Given the description of an element on the screen output the (x, y) to click on. 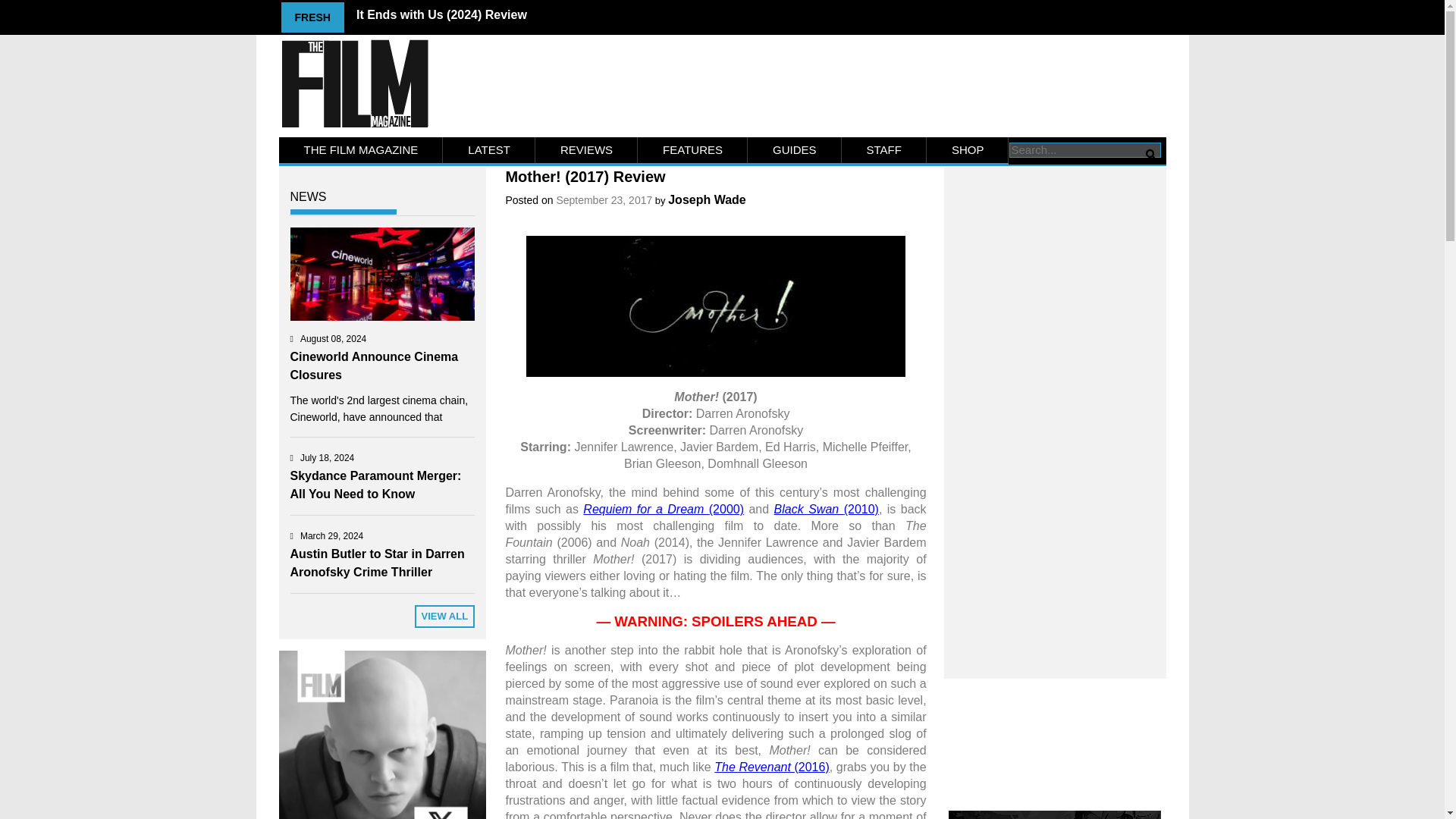
GUIDES (794, 149)
FEATURES (692, 149)
THE FILM MAGAZINE (361, 149)
LATEST (488, 149)
SHOP (967, 149)
REVIEWS (586, 149)
STAFF (883, 149)
